Given the description of an element on the screen output the (x, y) to click on. 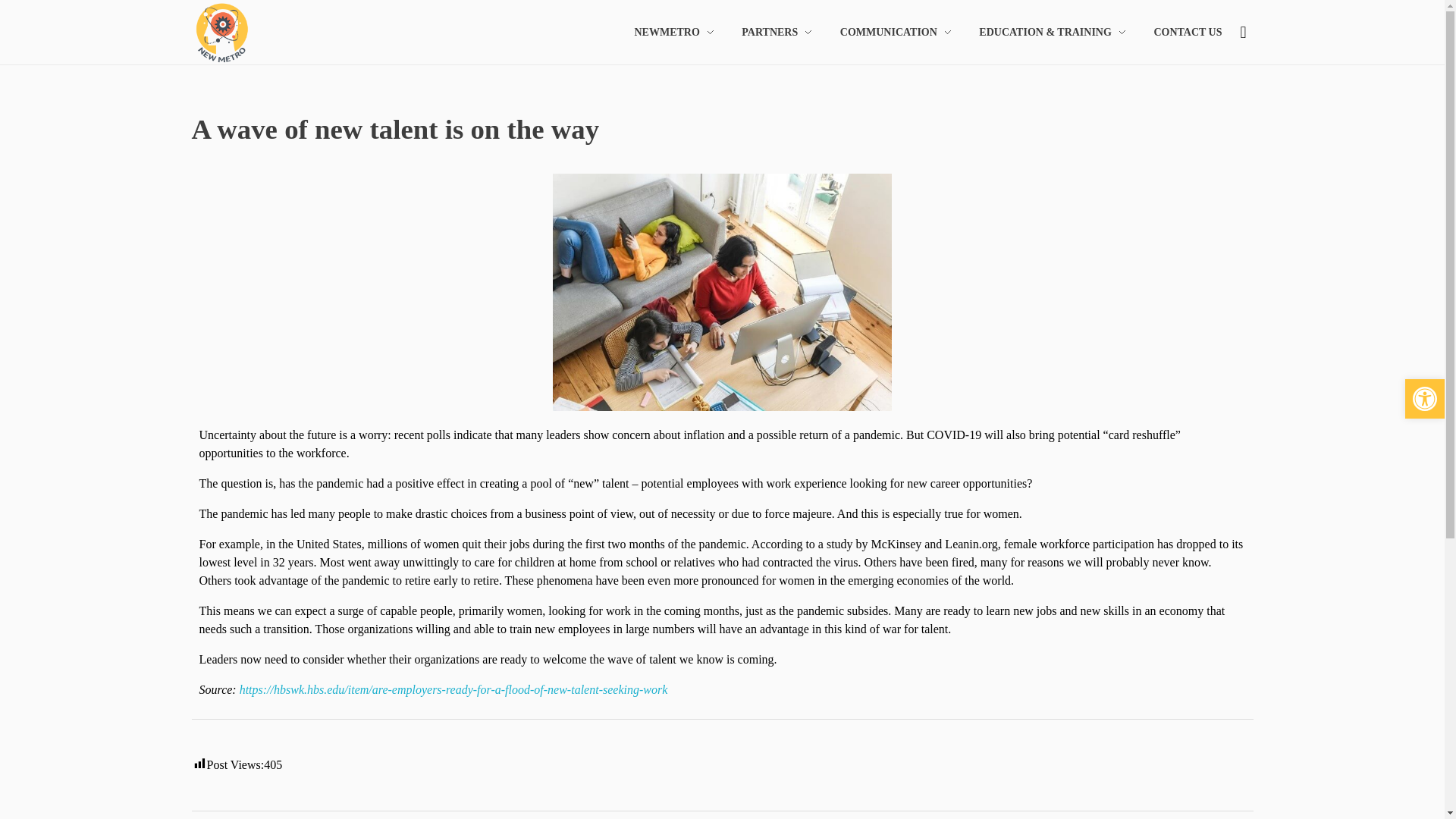
COMMUNICATION (895, 32)
PARTNERS (776, 32)
CONTACT US (1181, 32)
Accessibility Tools (1424, 398)
NEWMETRO (679, 32)
